Given the description of an element on the screen output the (x, y) to click on. 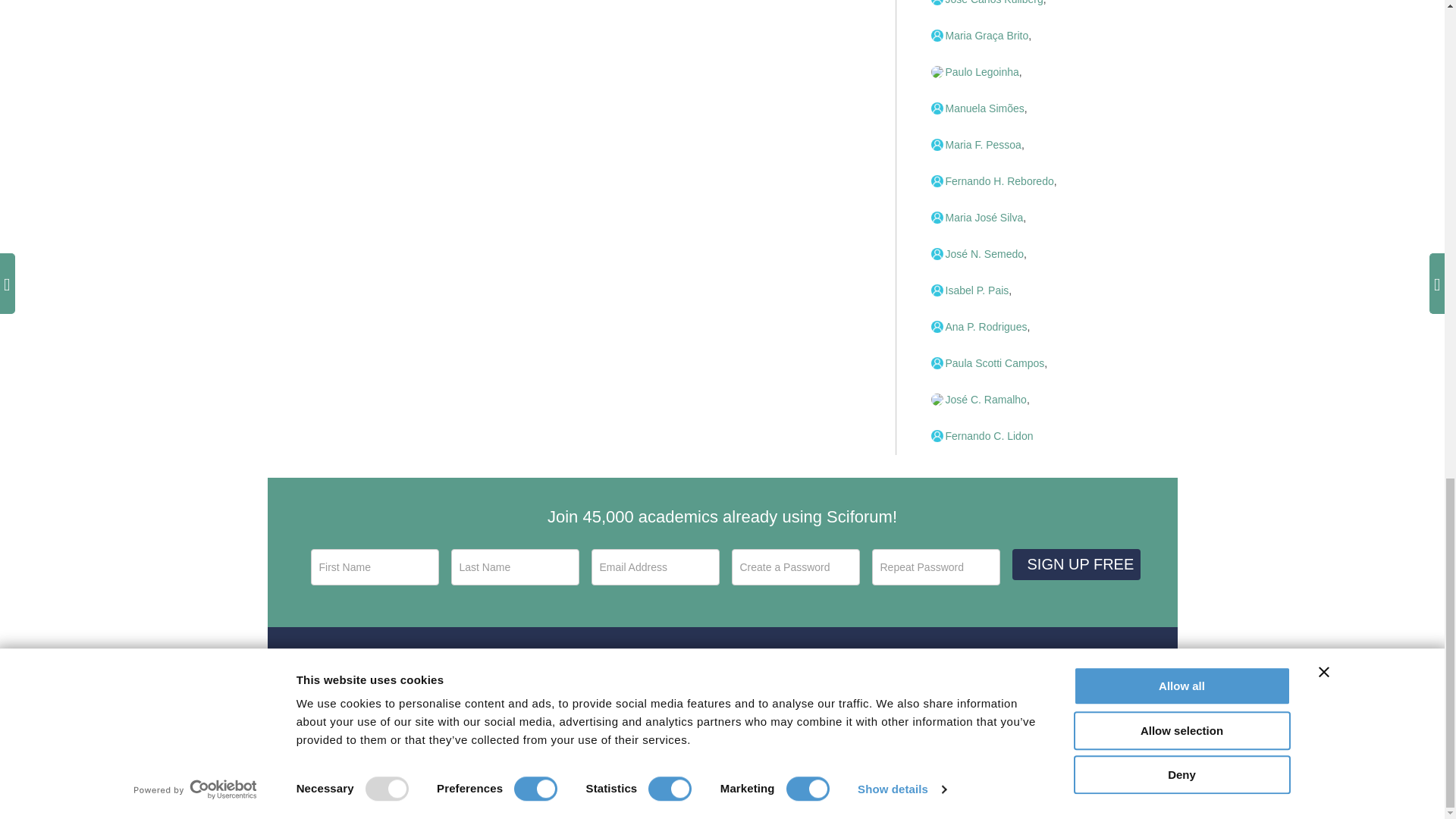
Last name (513, 566)
First name (375, 566)
Sign Up Free (1075, 563)
